Given the description of an element on the screen output the (x, y) to click on. 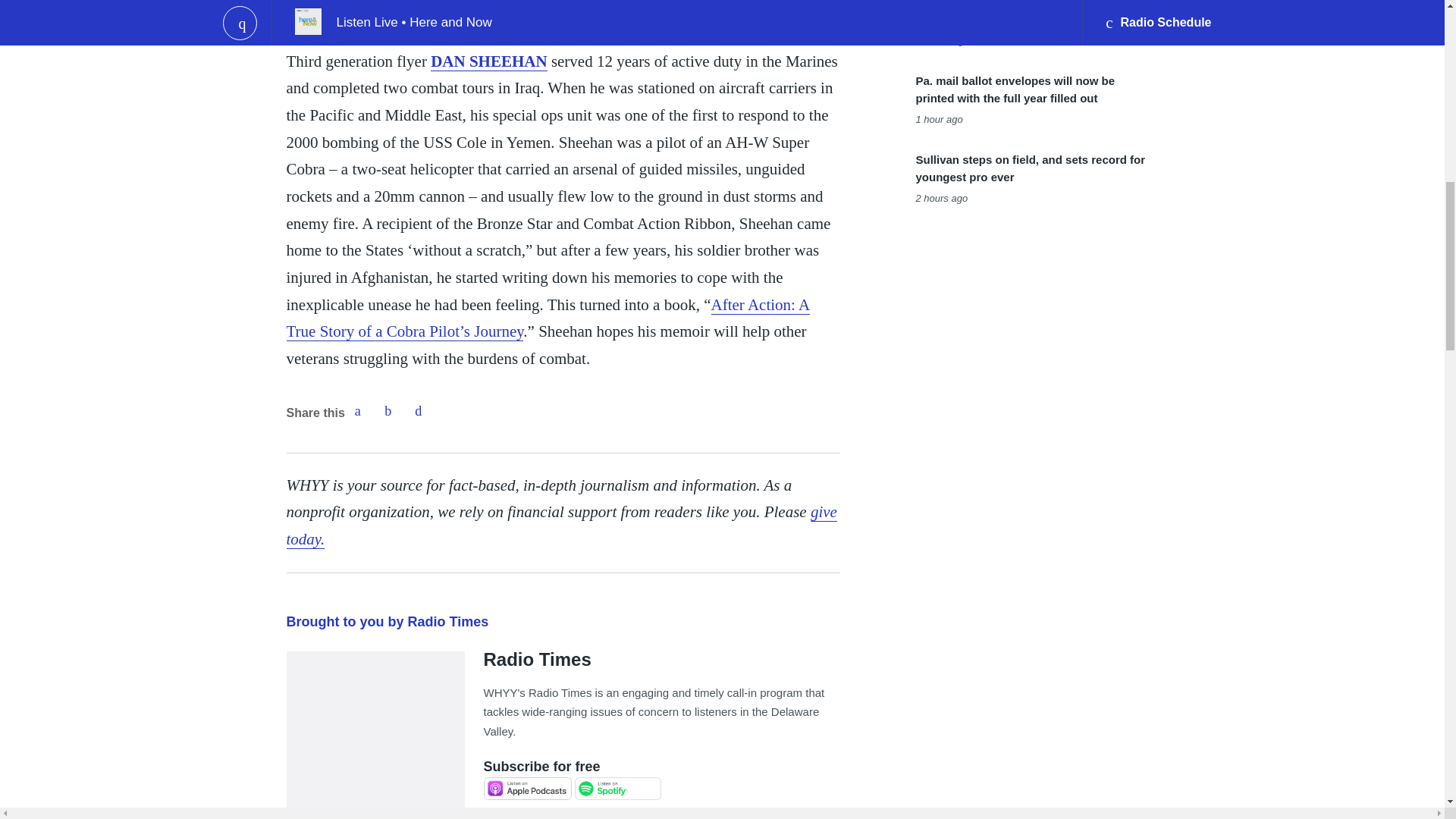
Email (418, 410)
Twitter (387, 410)
Facebook (357, 410)
